Given the description of an element on the screen output the (x, y) to click on. 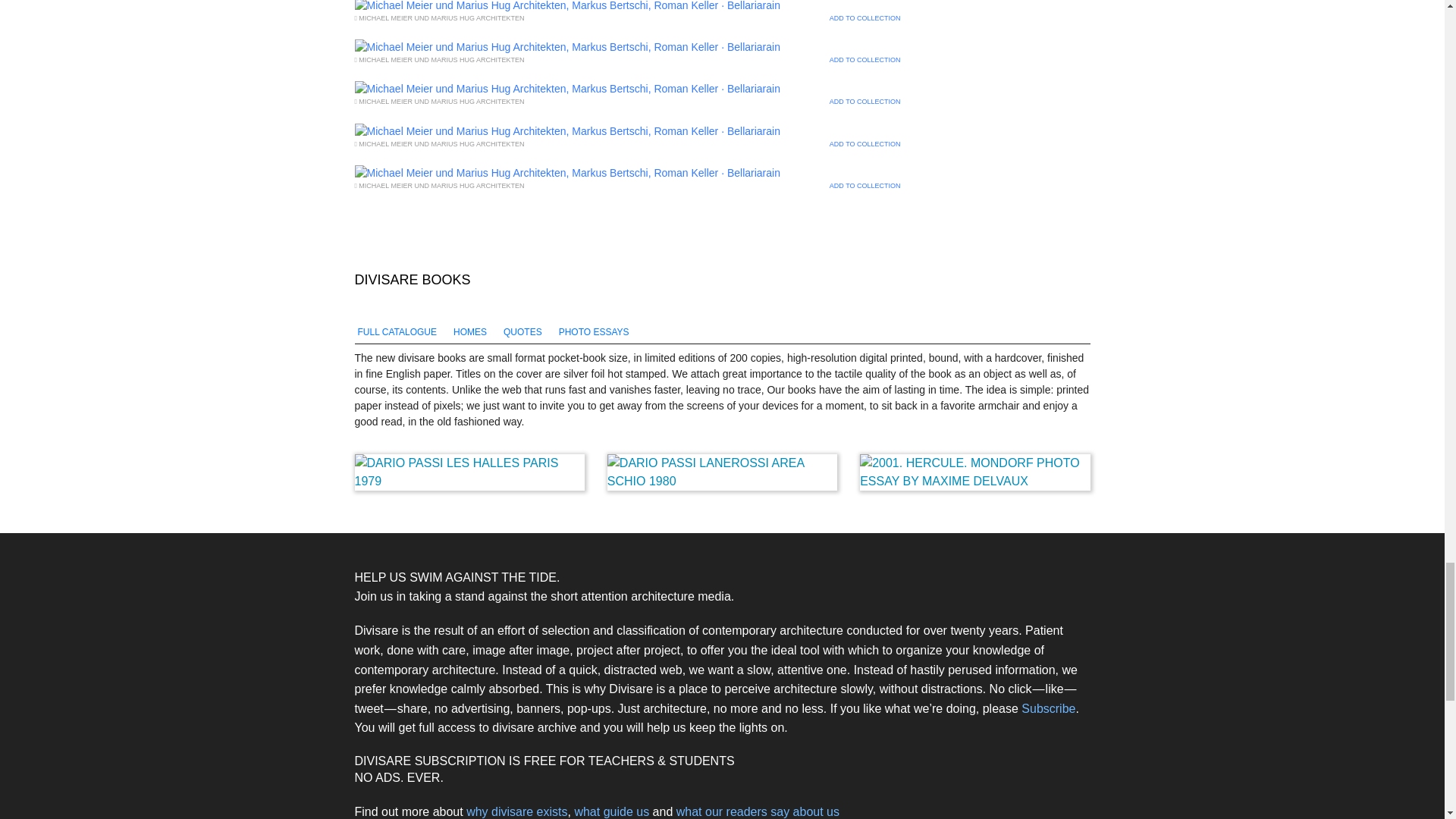
2001. HERCULE. MONDORF PHOTO ESSAY BY MAXIME DELVAUX (974, 472)
DARIO PASSI  LANEROSSI AREA  SCHIO 1980 (722, 472)
DARIO PASSI LES HALLES PARIS 1979 (470, 472)
